Given the description of an element on the screen output the (x, y) to click on. 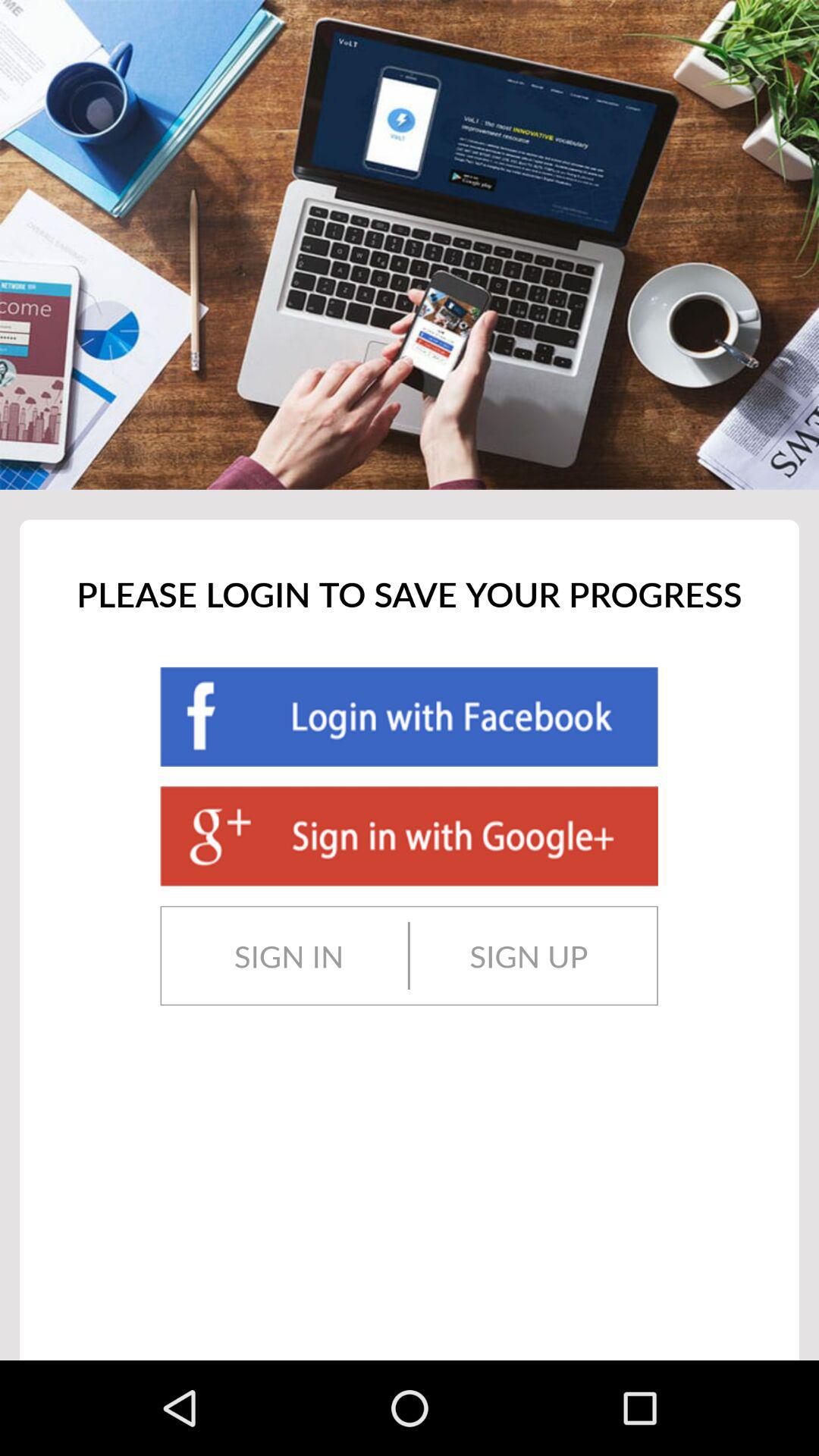
sign into google account (409, 836)
